Given the description of an element on the screen output the (x, y) to click on. 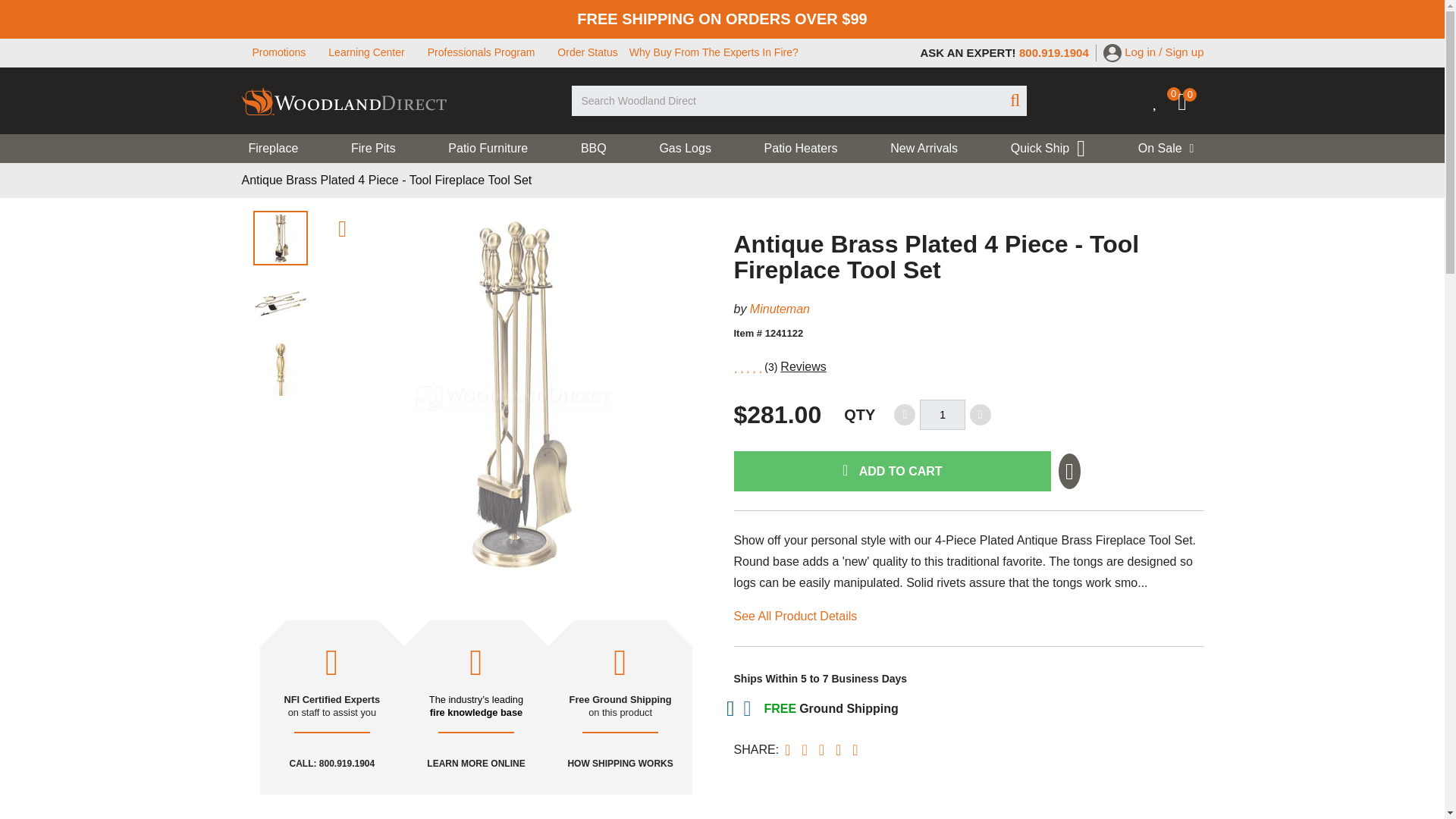
Learning Center (366, 52)
800.919.1904 (1054, 51)
Fireplace (280, 148)
Why Buy From The Experts In Fire? (712, 52)
Cart 0 Items (1190, 105)
Promotions (278, 52)
0 (1190, 105)
See All Product Details (795, 615)
Reviews (802, 366)
1 (942, 414)
Order Status (587, 52)
Click to add to cart (892, 471)
Professionals Program (481, 52)
